Given the description of an element on the screen output the (x, y) to click on. 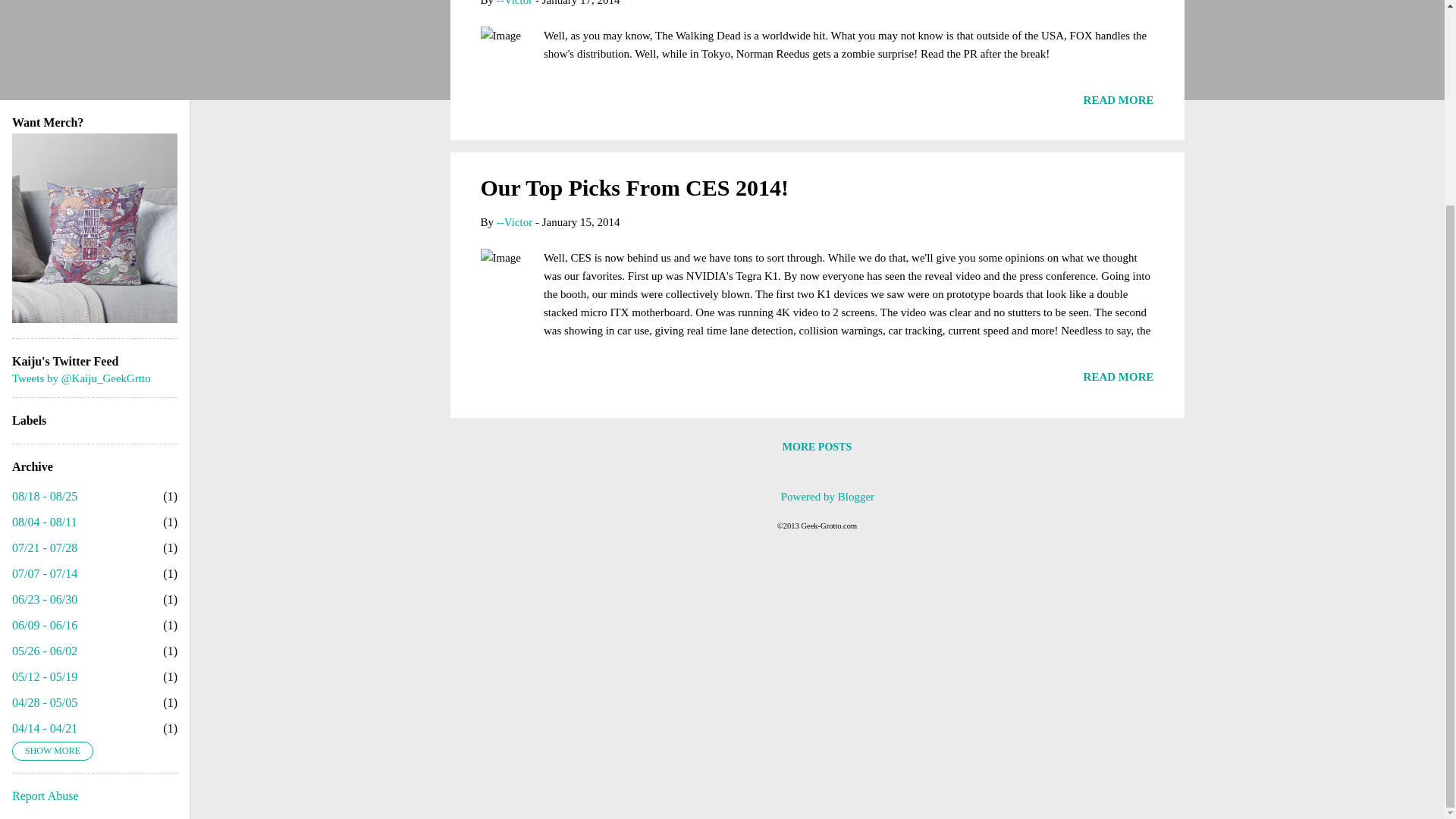
--Victor (514, 222)
--Victor (514, 2)
January 15, 2014 (580, 222)
READ MORE (1118, 100)
author profile (514, 2)
Email Post (489, 105)
permanent link (580, 2)
January 17, 2014 (580, 2)
MORE POSTS (816, 446)
